Given the description of an element on the screen output the (x, y) to click on. 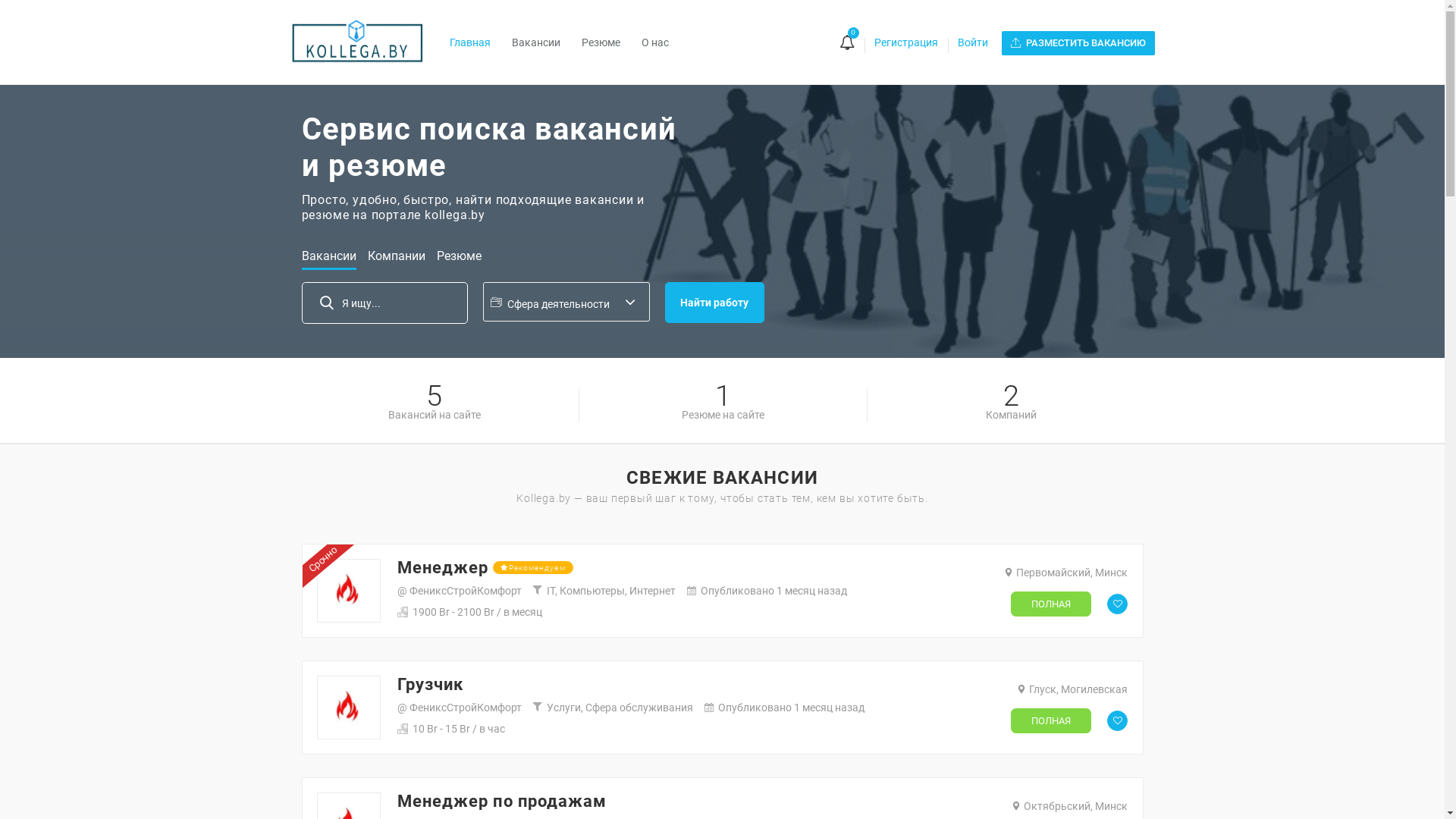
0 Element type: text (845, 43)
